Given the description of an element on the screen output the (x, y) to click on. 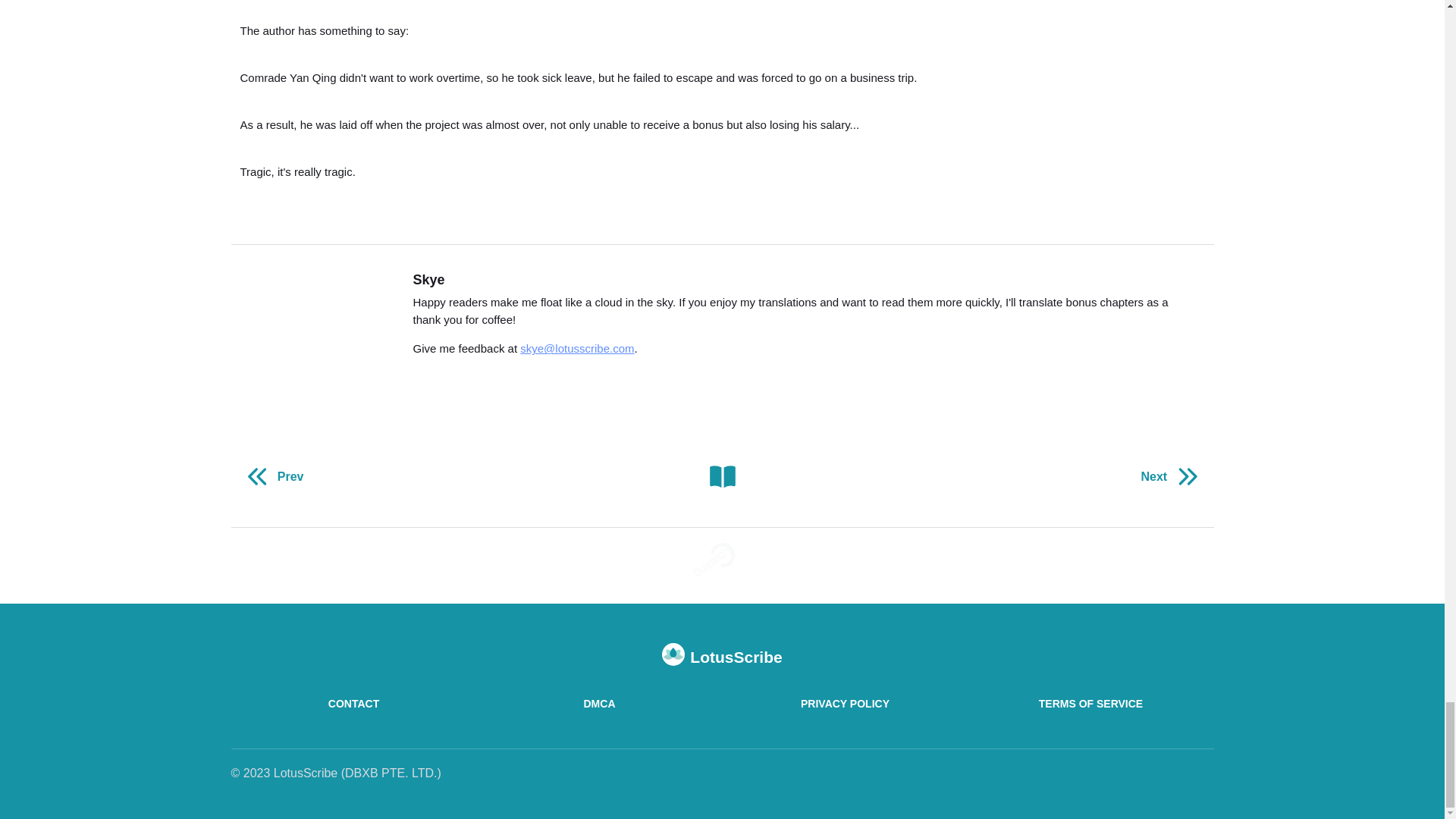
LotusScribe (721, 655)
 Prev (271, 476)
CONTACT (353, 704)
TERMS OF SERVICE (1090, 704)
DMCA (598, 704)
CONTACT (353, 704)
Next  (1171, 476)
PRIVACY POLICY (844, 704)
TERMS OF SERVICE (1090, 704)
PRIVACY POLICY (844, 704)
DMCA (598, 704)
LotusScribe (721, 655)
